Given the description of an element on the screen output the (x, y) to click on. 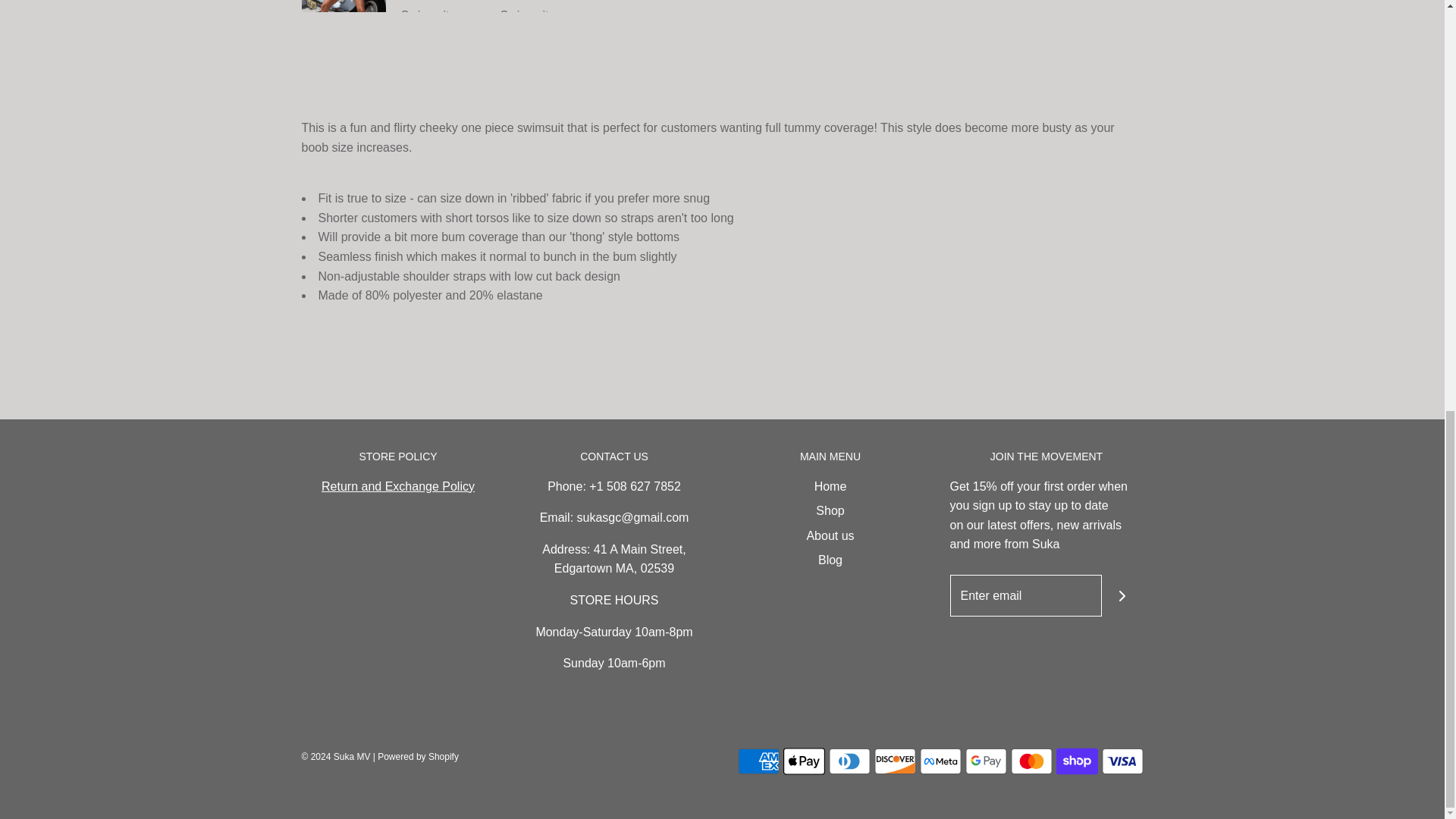
Google Pay (984, 761)
American Express (757, 761)
Shop Pay (1076, 761)
Mastercard (1030, 761)
Discover (894, 761)
Apple Pay (803, 761)
Diners Club (848, 761)
Store Policy (397, 486)
Meta Pay (939, 761)
Visa (1121, 761)
